Given the description of an element on the screen output the (x, y) to click on. 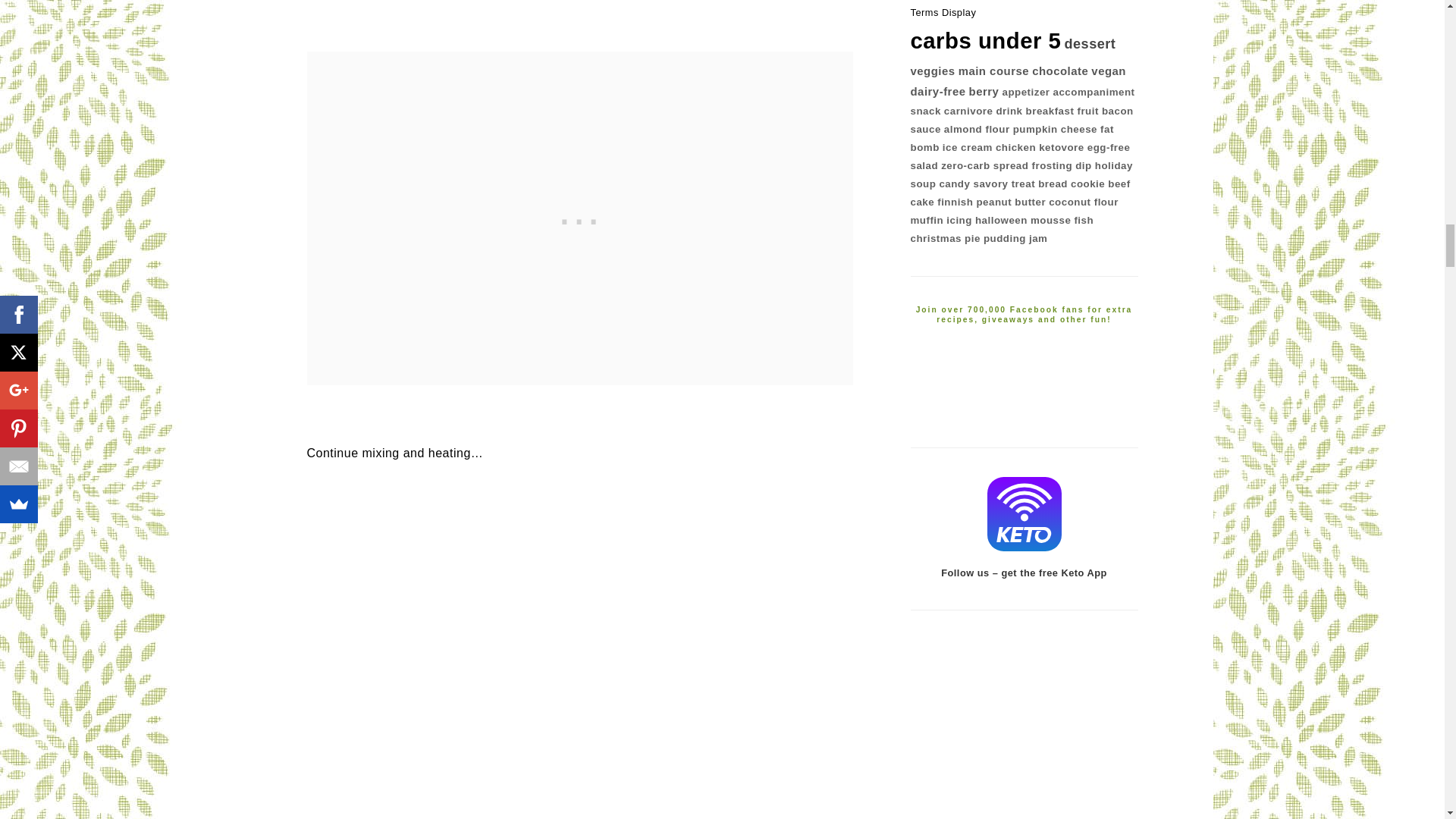
81 topics (932, 70)
67 topics (993, 70)
436 topics (985, 40)
155 topics (1089, 43)
